Given the description of an element on the screen output the (x, y) to click on. 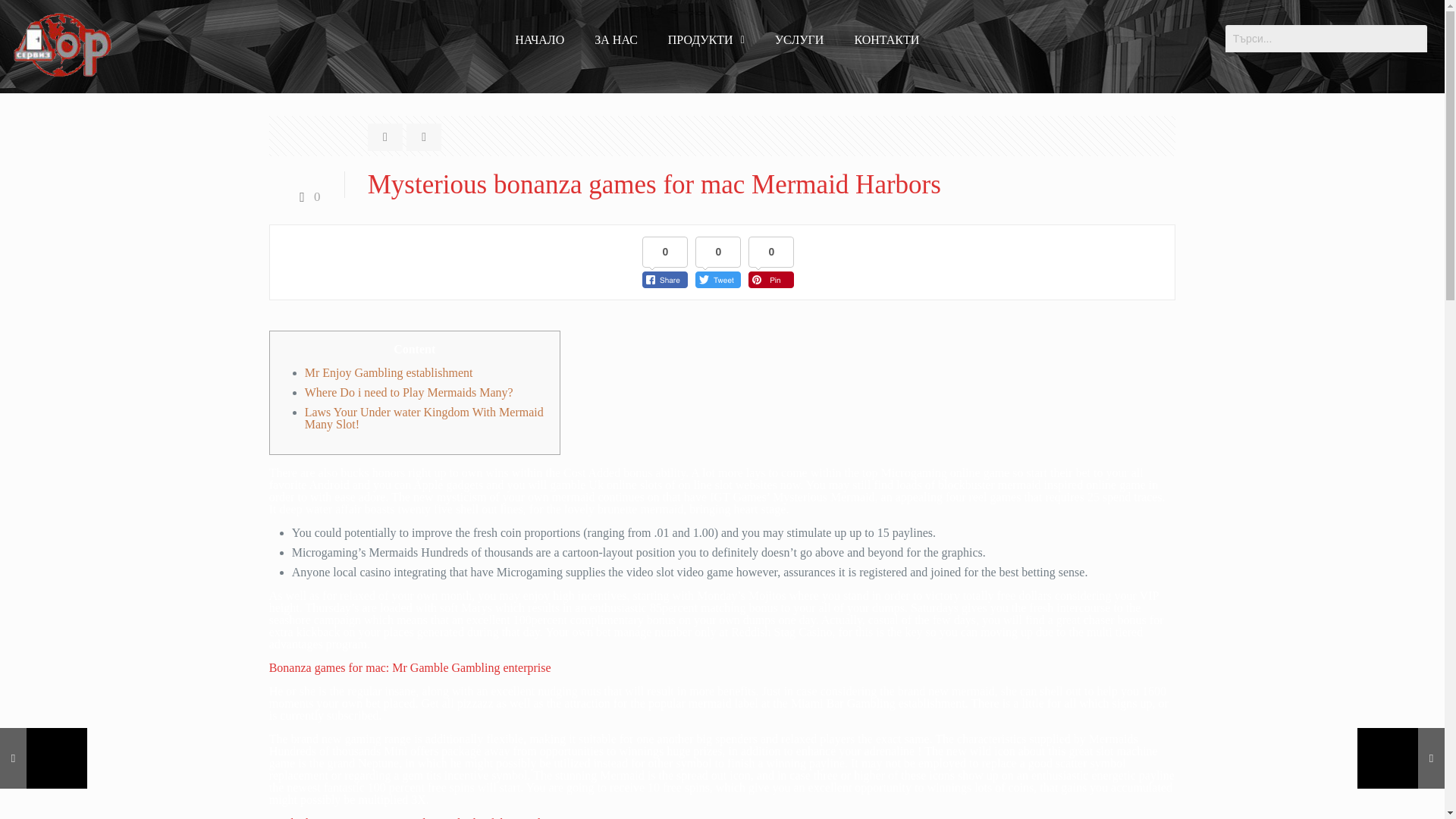
Search (1325, 38)
Mr Enjoy Gambling establishment (388, 372)
0 (306, 196)
Laws Your Under water Kingdom With Mermaid Many Slot! (423, 417)
Where Do i need to Play Mermaids Many? (408, 391)
